Given the description of an element on the screen output the (x, y) to click on. 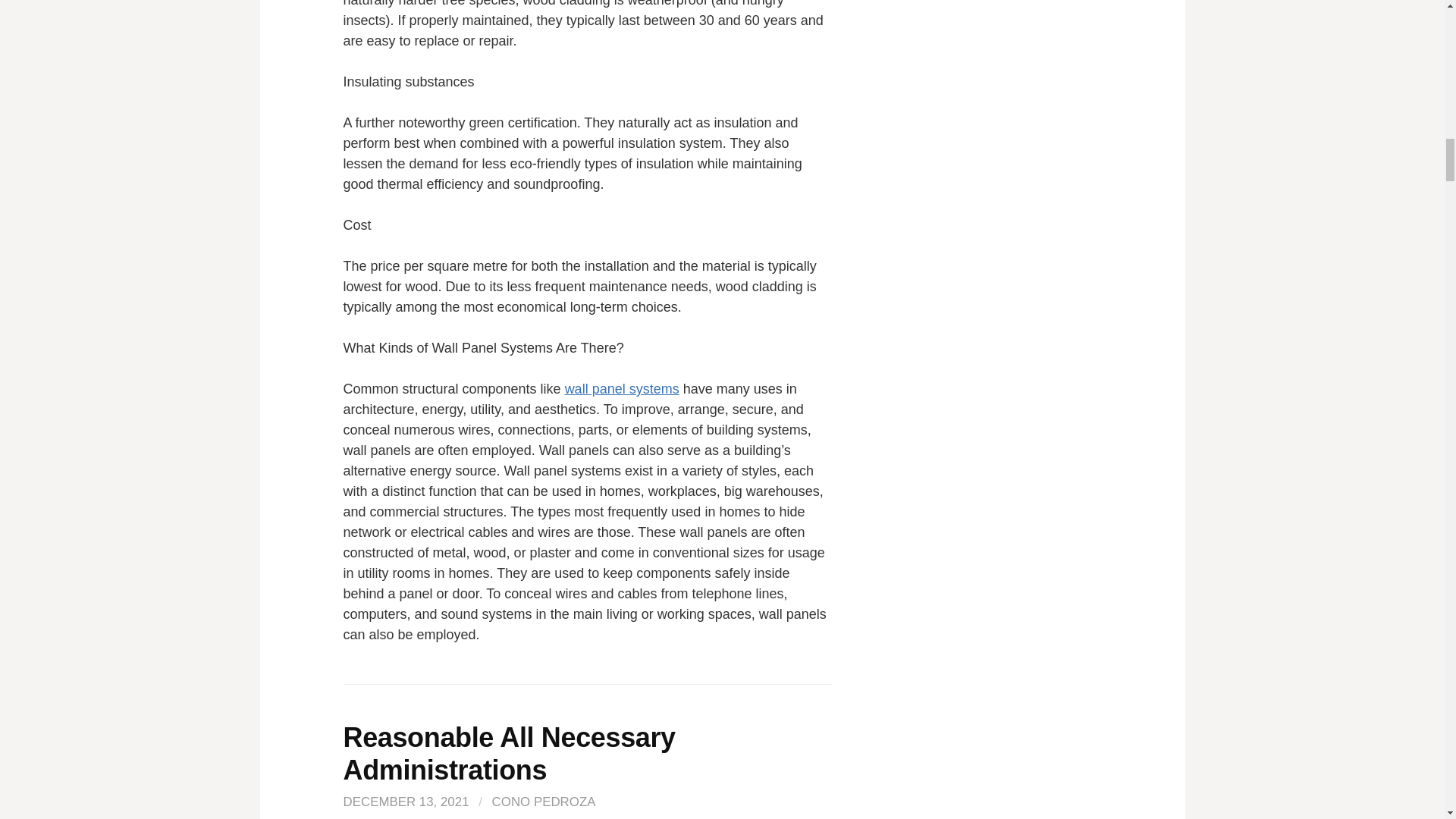
CONO PEDROZA (543, 801)
Reasonable All Necessary Administrations (508, 753)
DECEMBER 13, 2021 (405, 801)
wall panel systems (621, 388)
